Given the description of an element on the screen output the (x, y) to click on. 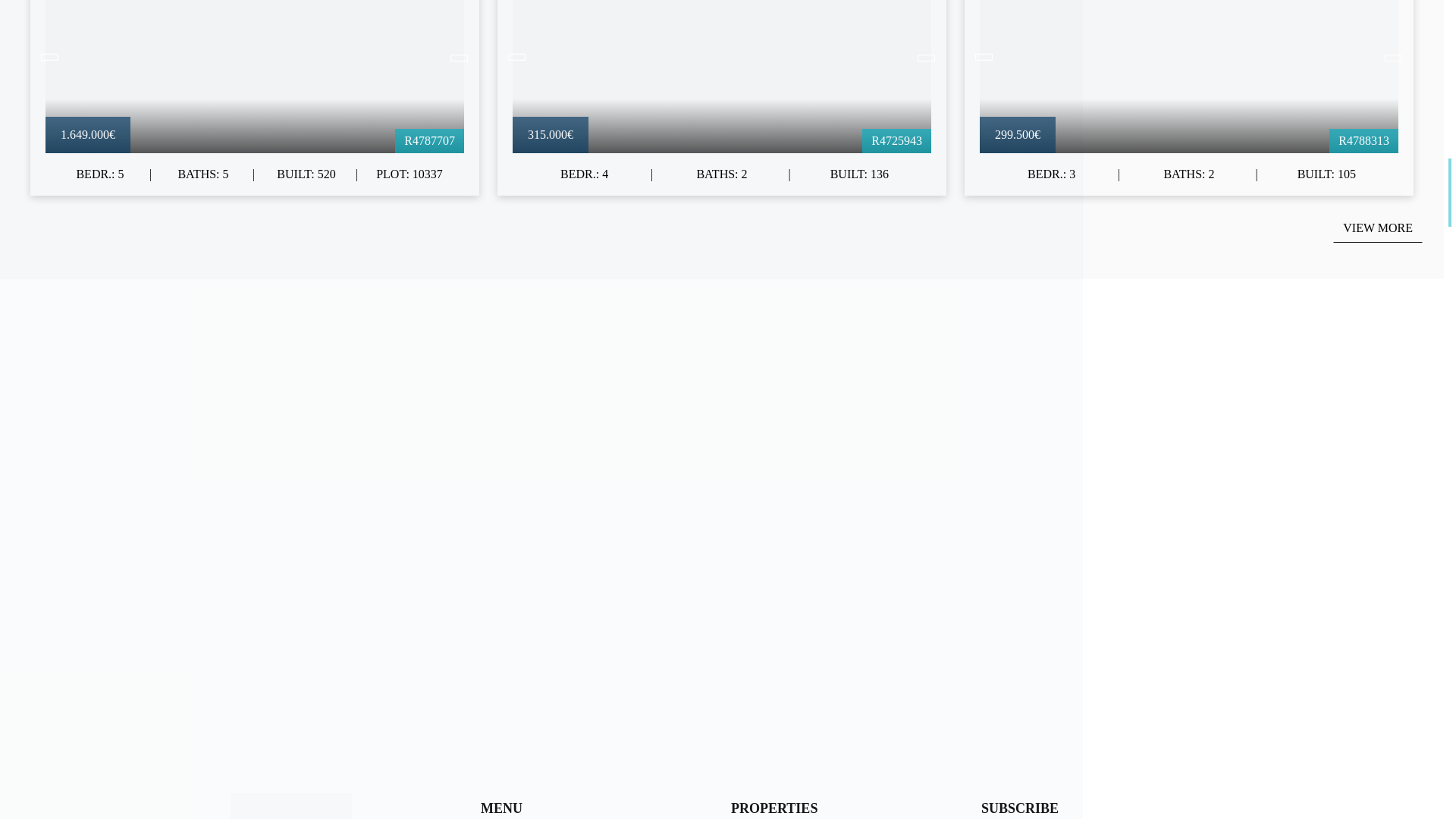
VIEW MORE (1377, 227)
